Given the description of an element on the screen output the (x, y) to click on. 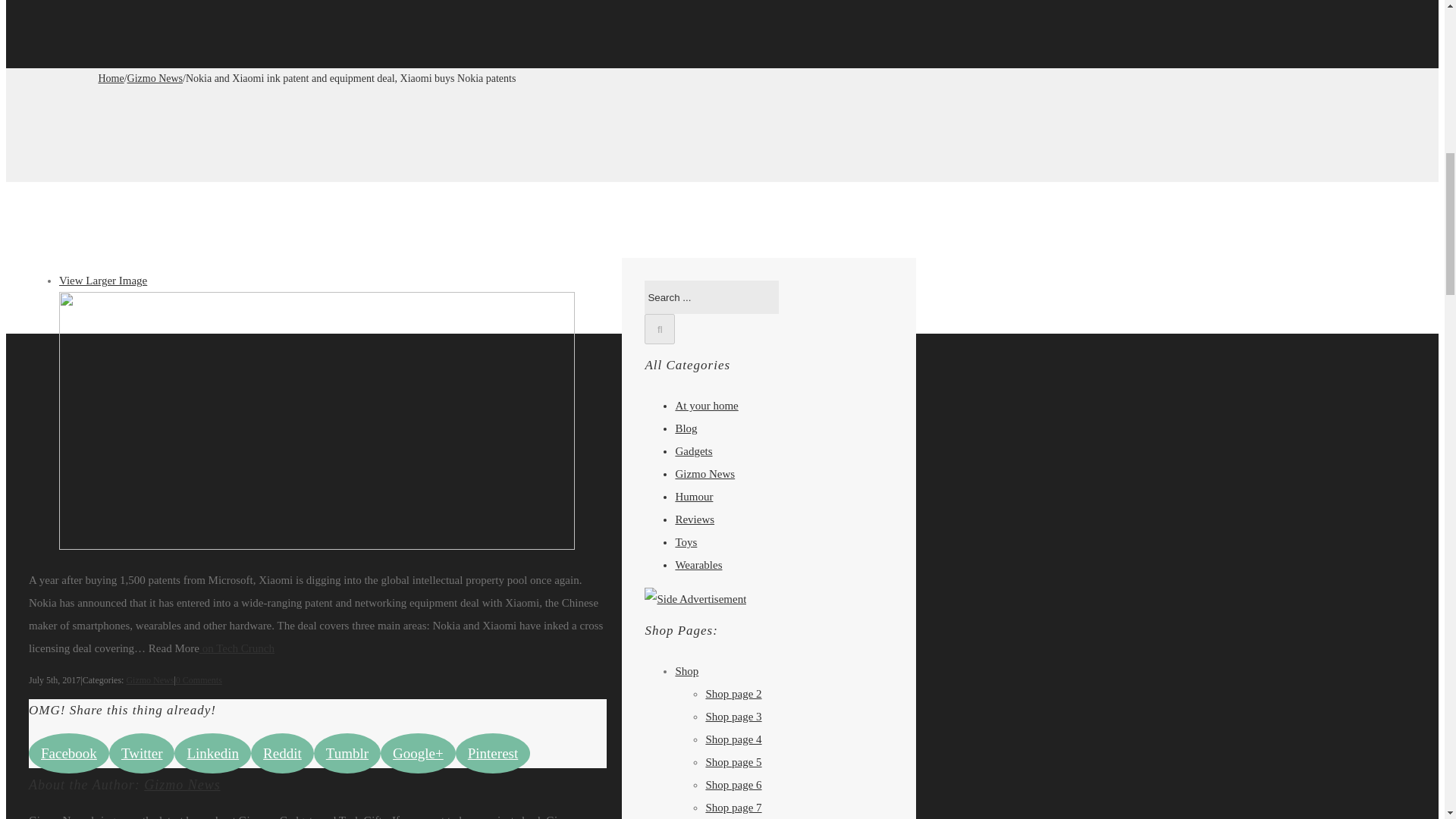
Gizmo News (155, 78)
0 Comments (199, 679)
Facebook (69, 753)
Tumblr (347, 753)
Linkedin (212, 753)
Reddit (282, 753)
Gizmo News (149, 679)
Pinterest (493, 753)
Linkedin (212, 753)
